Given the description of an element on the screen output the (x, y) to click on. 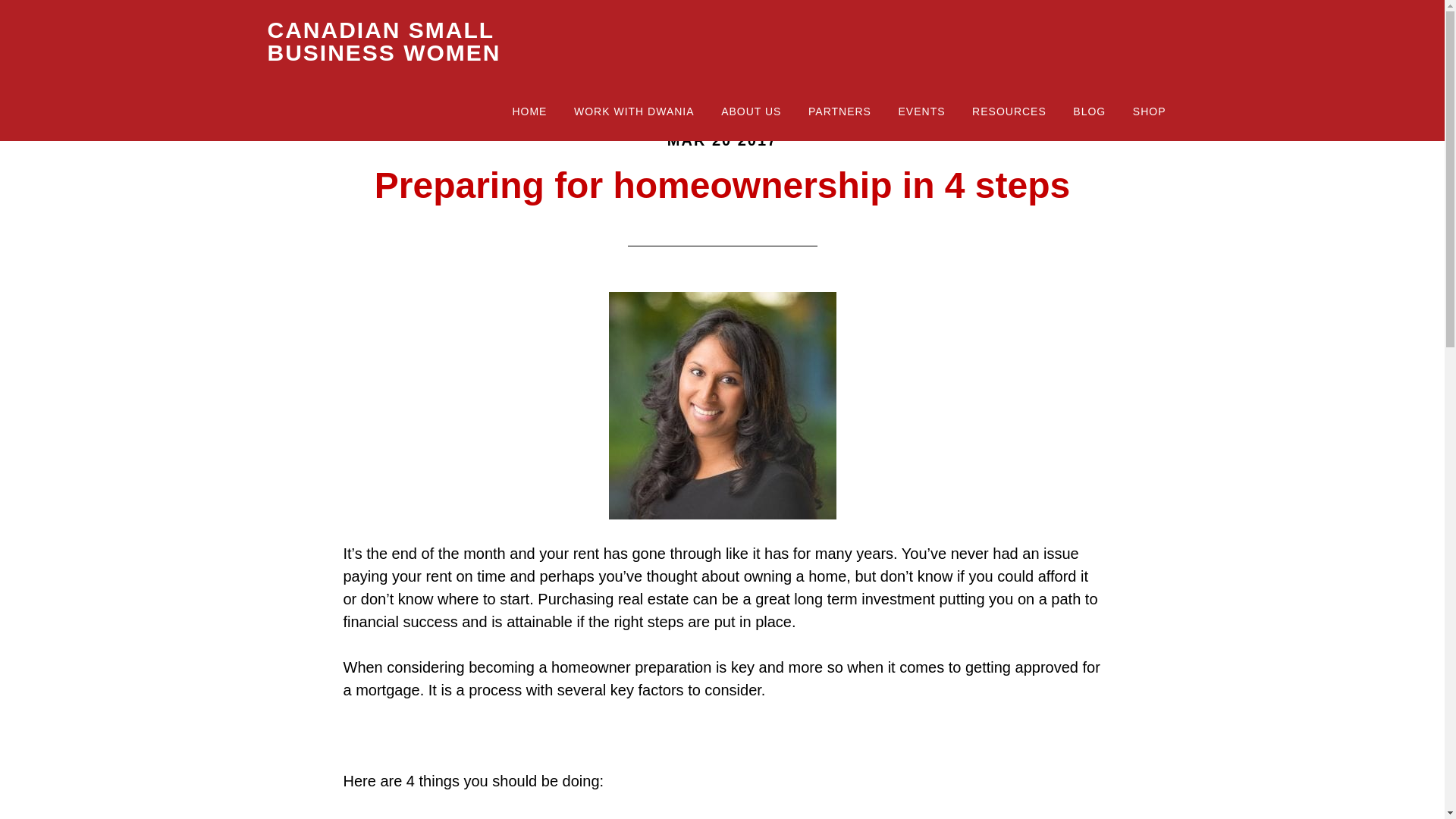
RESOURCES (1009, 111)
ABOUT US (751, 111)
SHOP (1149, 111)
BLOG (1088, 111)
HOME (528, 111)
EVENTS (921, 111)
PARTNERS (839, 111)
CANADIAN SMALL BUSINESS WOMEN (383, 41)
WORK WITH DWANIA (634, 111)
